Given the description of an element on the screen output the (x, y) to click on. 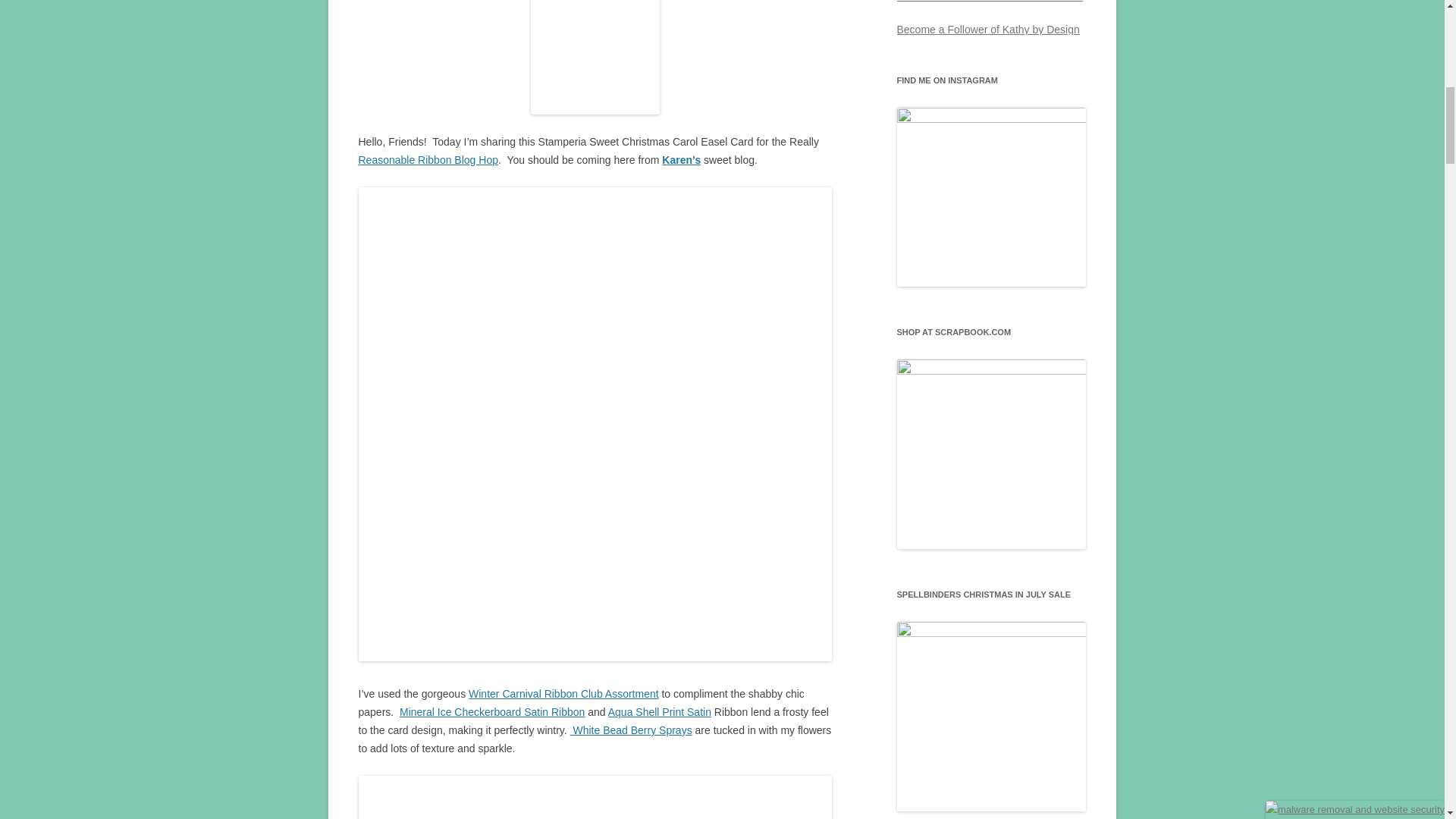
Mineral Ice Checkerboard Satin Ribbon (491, 711)
Winter Carnival Ribbon Club Assortment (563, 693)
White Bead Berry Sprays (631, 729)
Reasonable Ribbon Blog Hop (427, 159)
Aqua Shell Print Satin (659, 711)
